Given the description of an element on the screen output the (x, y) to click on. 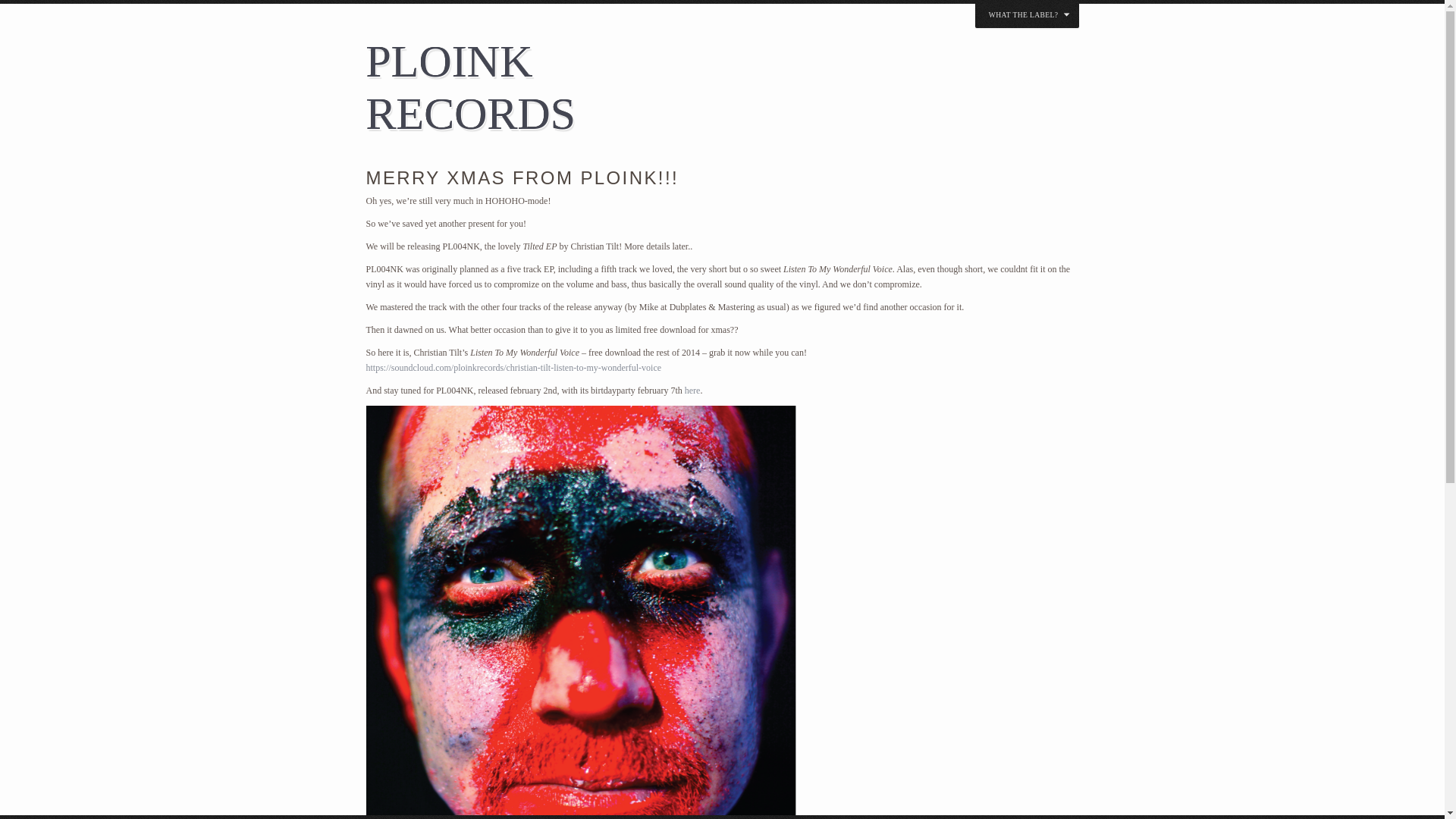
Return to the homepage (547, 88)
Send Message (766, 468)
here (692, 389)
Happy, happy, happy birthdayparty for PL004NK!!! (692, 389)
PLOINK RECORDS (547, 88)
